Given the description of an element on the screen output the (x, y) to click on. 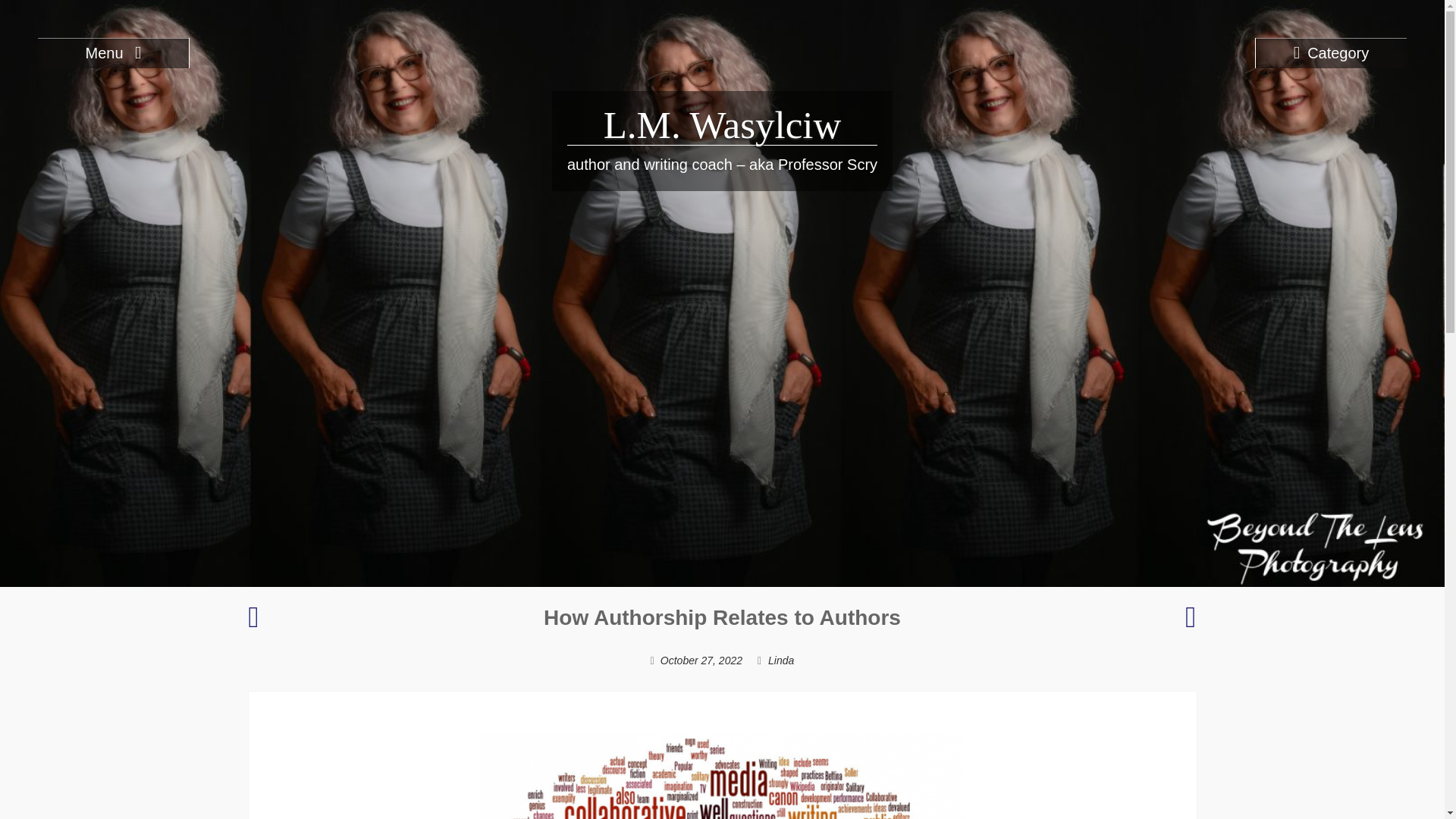
Menu (113, 52)
